Given the description of an element on the screen output the (x, y) to click on. 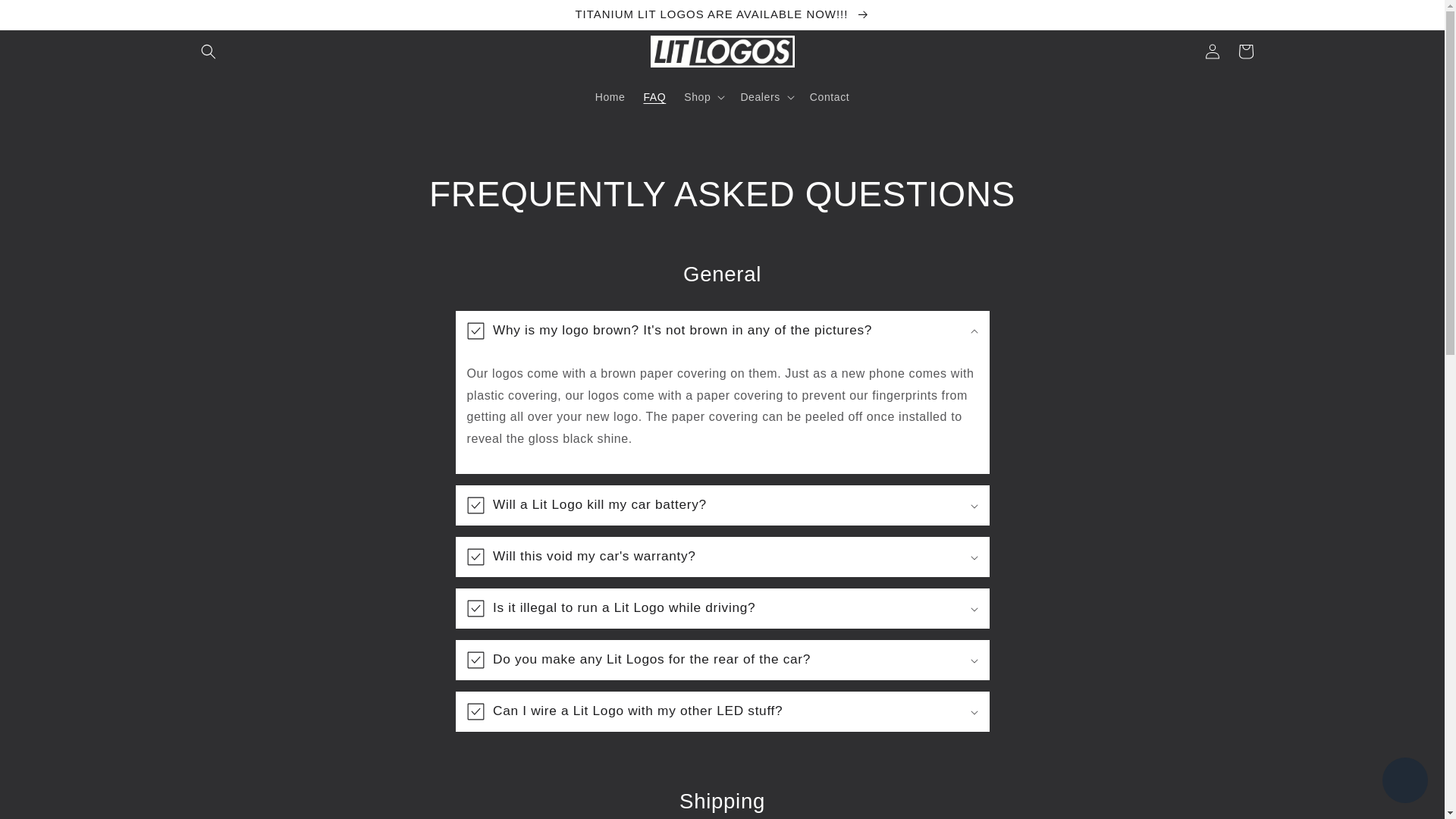
FAQ (654, 97)
Log in (1211, 51)
Cart (1245, 51)
Skip to content (46, 18)
Contact (829, 97)
Home (610, 97)
Shopify online store chat (1404, 781)
